Given the description of an element on the screen output the (x, y) to click on. 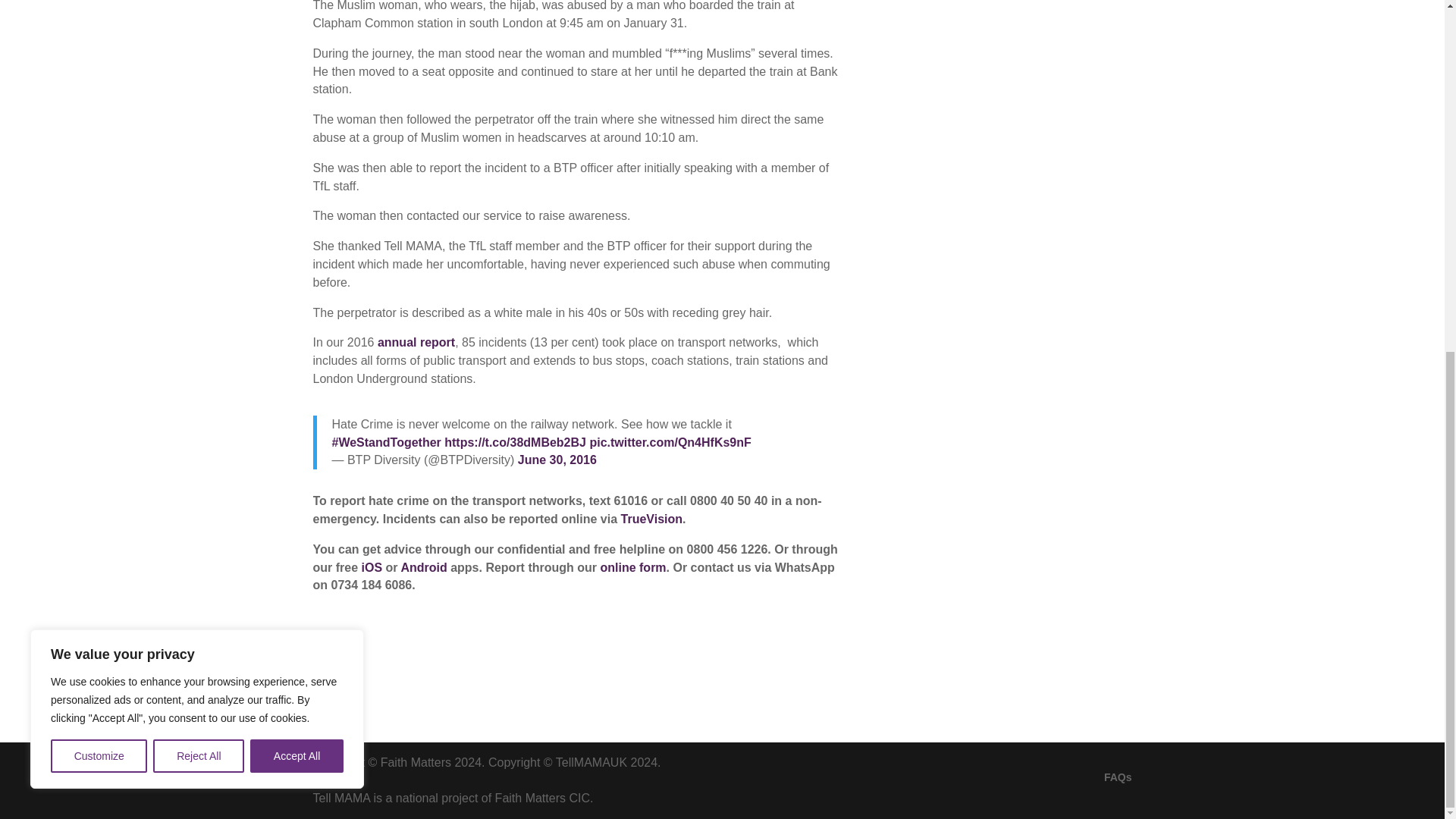
Reject All (198, 142)
Customize (98, 142)
Accept All (296, 142)
annual report (415, 341)
